Given the description of an element on the screen output the (x, y) to click on. 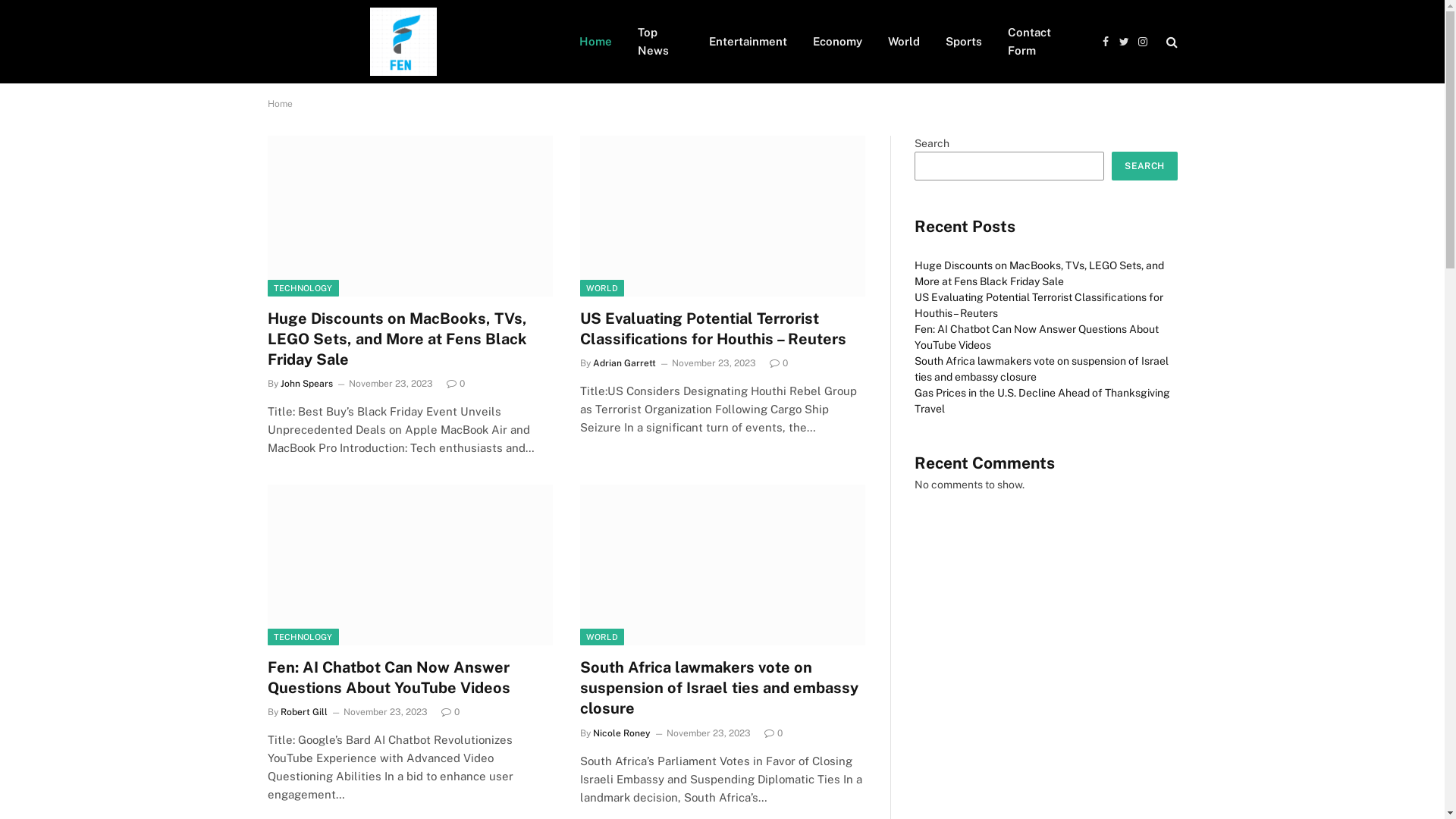
World Element type: text (903, 41)
Instagram Element type: text (1142, 41)
TECHNOLOGY Element type: text (302, 287)
Economy Element type: text (837, 41)
Contact Form Element type: text (1039, 41)
SEARCH Element type: text (1143, 165)
Gas Prices in the U.S. Decline Ahead of Thanksgiving Travel Element type: text (1042, 400)
0 Element type: text (777, 362)
Facebook Element type: text (1104, 41)
Search Element type: hover (1170, 41)
0 Element type: text (773, 733)
Twitter Element type: text (1123, 41)
Nicole Roney Element type: text (621, 733)
Robert Gill Element type: text (303, 711)
TECHNOLOGY Element type: text (302, 636)
0 Element type: text (450, 711)
John Spears Element type: text (306, 383)
WORLD Element type: text (601, 636)
FEN Element type: hover (402, 41)
WORLD Element type: text (601, 287)
Home Element type: text (594, 41)
Adrian Garrett Element type: text (624, 362)
Top News Element type: text (660, 41)
Entertainment Element type: text (748, 41)
Sports Element type: text (963, 41)
0 Element type: text (454, 383)
